Given the description of an element on the screen output the (x, y) to click on. 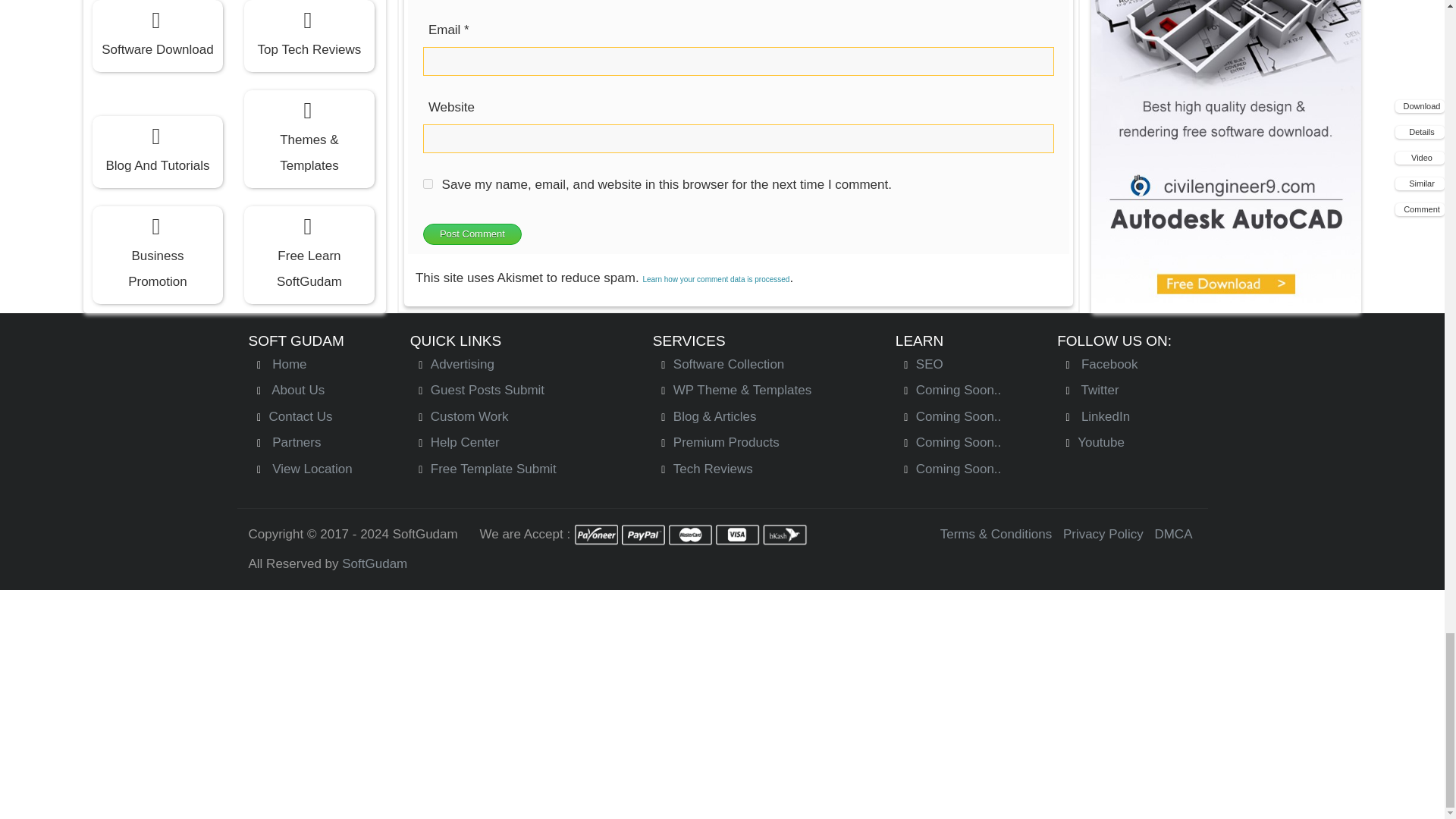
Post Comment (472, 233)
yes (427, 184)
